Given the description of an element on the screen output the (x, y) to click on. 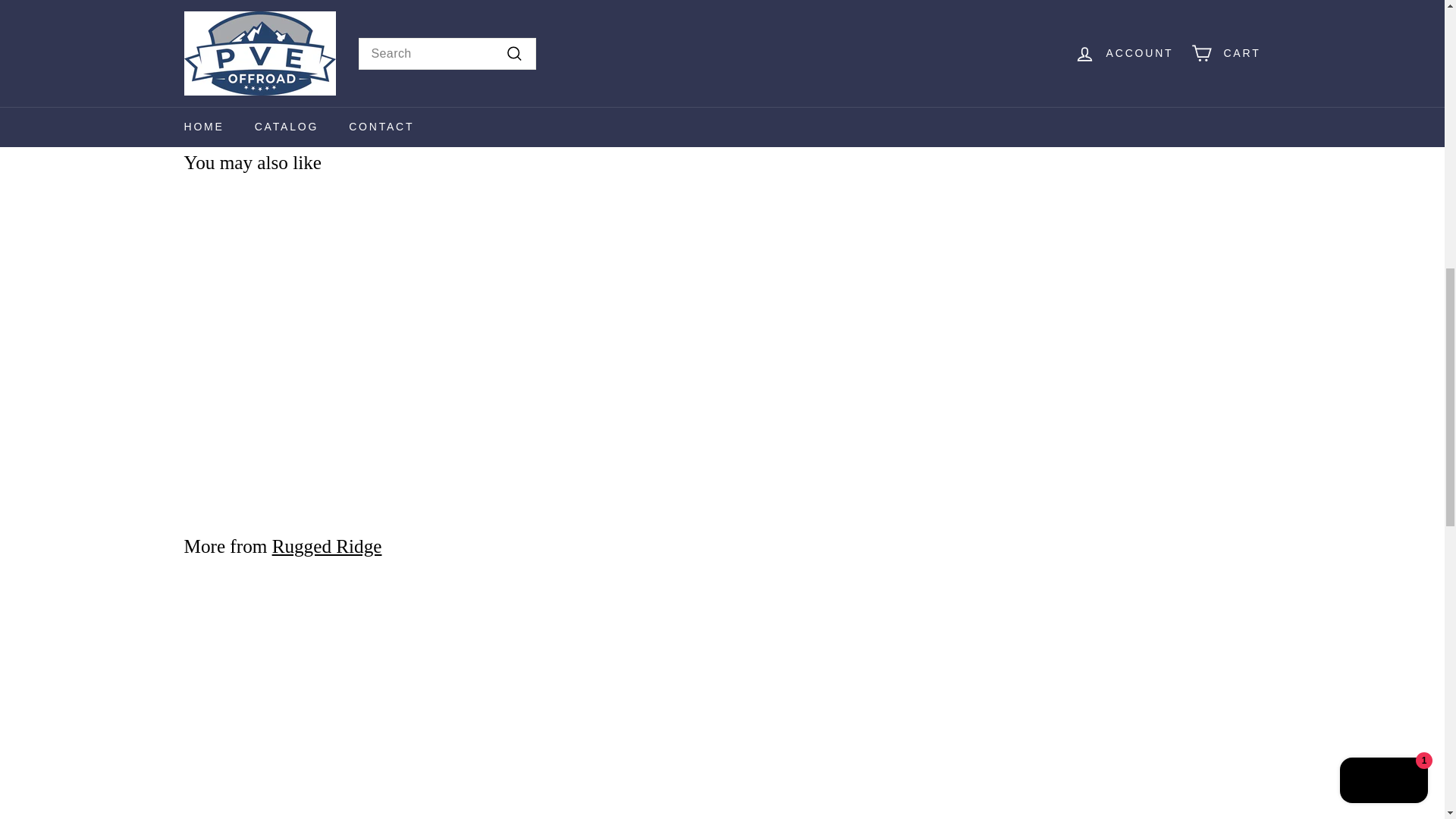
Rugged Ridge (326, 546)
Description (722, 7)
Ask a question (722, 83)
Shipping information (722, 37)
